Given the description of an element on the screen output the (x, y) to click on. 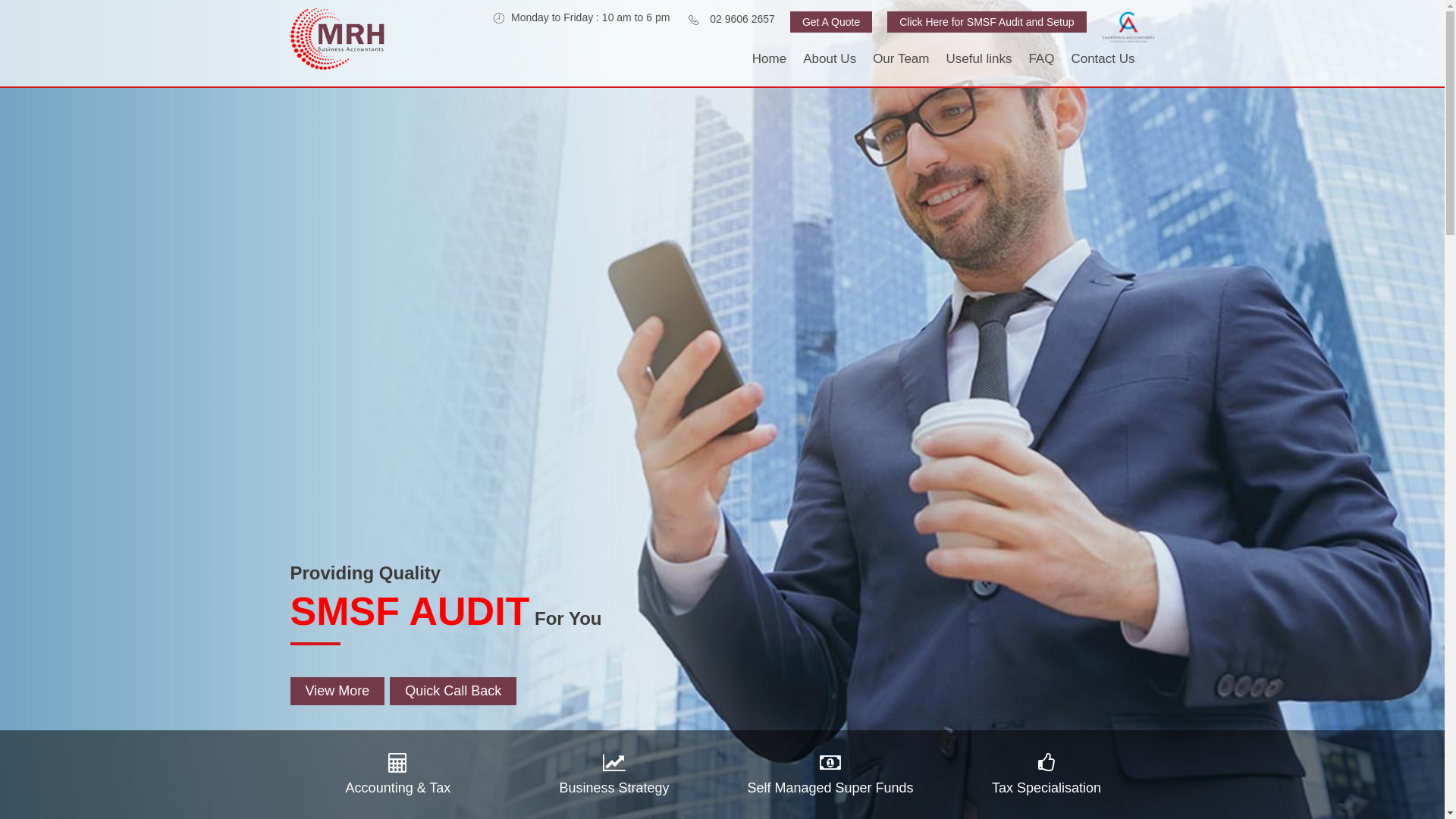
Contact Us Element type: text (1102, 58)
Get A Quote Element type: text (831, 21)
Quick Call Back Element type: text (452, 691)
Accounting & Tax Element type: text (398, 774)
Home Element type: text (768, 58)
Click Here for SMSF Audit and Setup Element type: text (986, 21)
FAQ Element type: text (1040, 58)
Tax Specialisation Element type: text (1045, 774)
View More Element type: text (336, 691)
About Us Element type: text (829, 58)
Business Strategy Element type: text (613, 774)
Useful links Element type: text (978, 58)
Self Managed Super Funds Element type: text (830, 774)
Our Team Element type: text (900, 58)
